Given the description of an element on the screen output the (x, y) to click on. 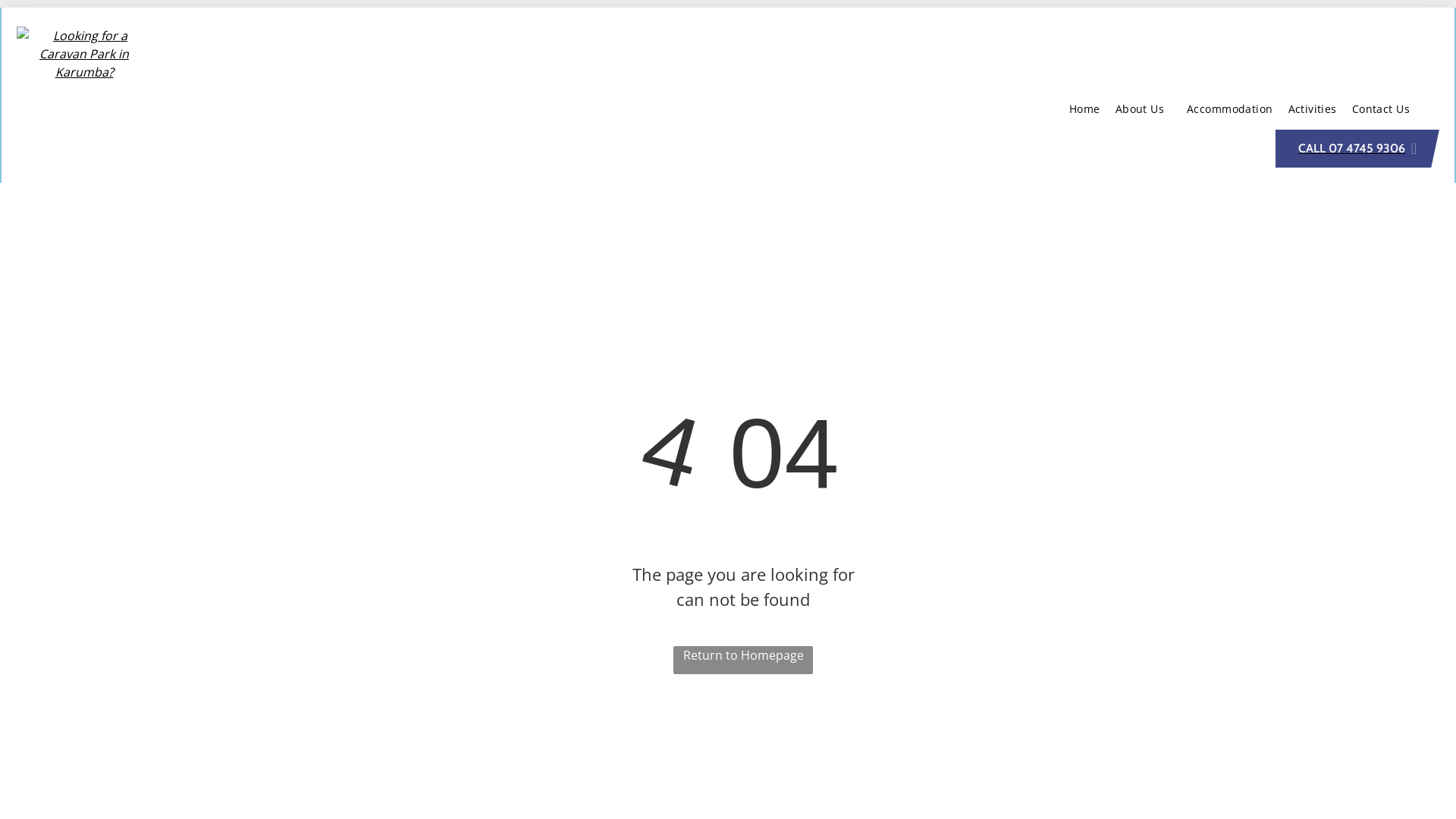
Looking for a Caravan Park in Karumba? Element type: hover (83, 53)
About Us Element type: text (1143, 108)
Contact Us Element type: text (1380, 108)
CALL 07 4745 9306 Element type: text (1357, 148)
Accommodation Element type: text (1229, 108)
Return to Homepage Element type: text (742, 660)
Activities Element type: text (1312, 108)
Home Element type: text (1084, 108)
